Given the description of an element on the screen output the (x, y) to click on. 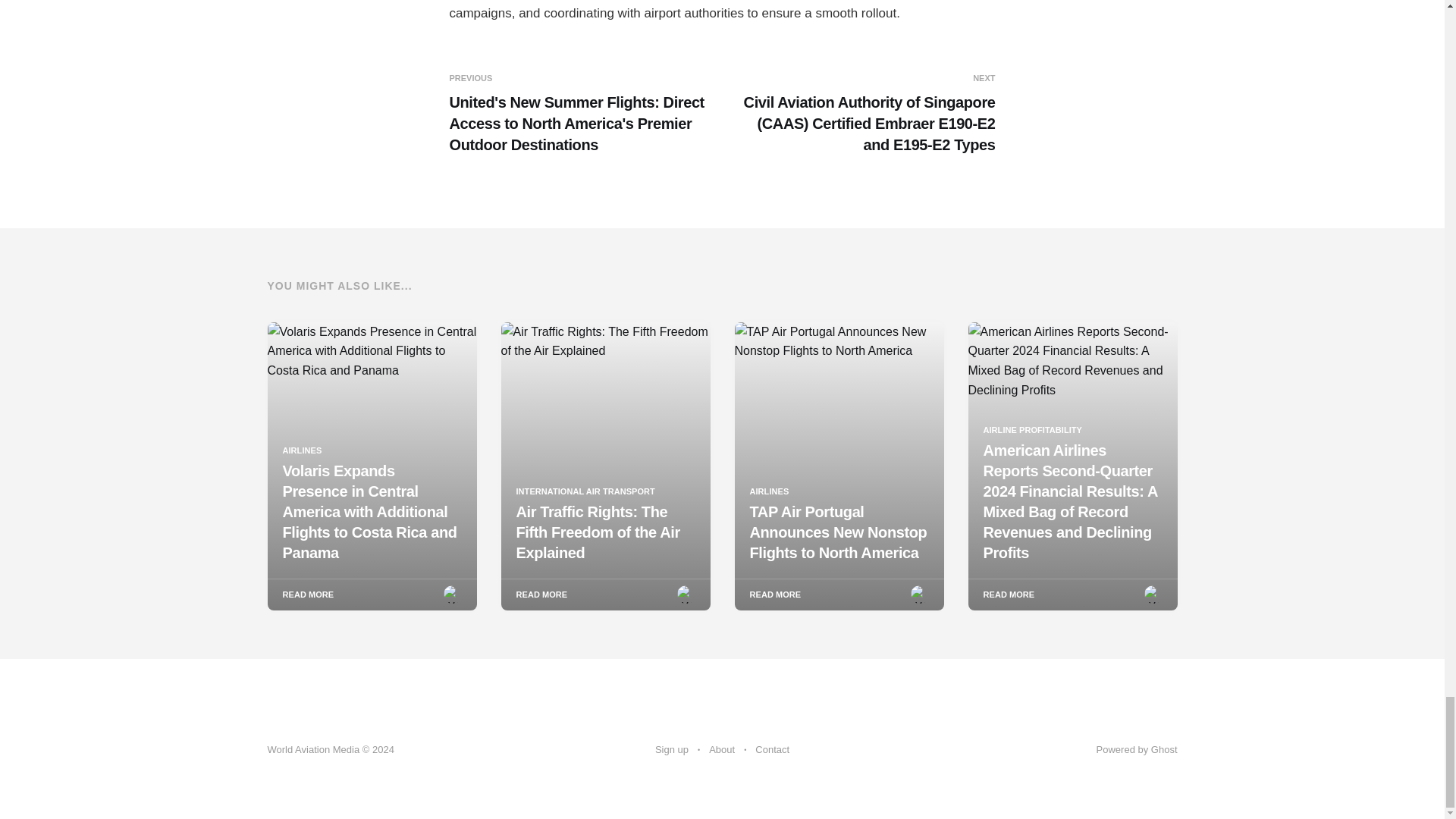
Sign up (671, 750)
About (722, 750)
Powered by Ghost (1136, 749)
Contact (772, 750)
